Given the description of an element on the screen output the (x, y) to click on. 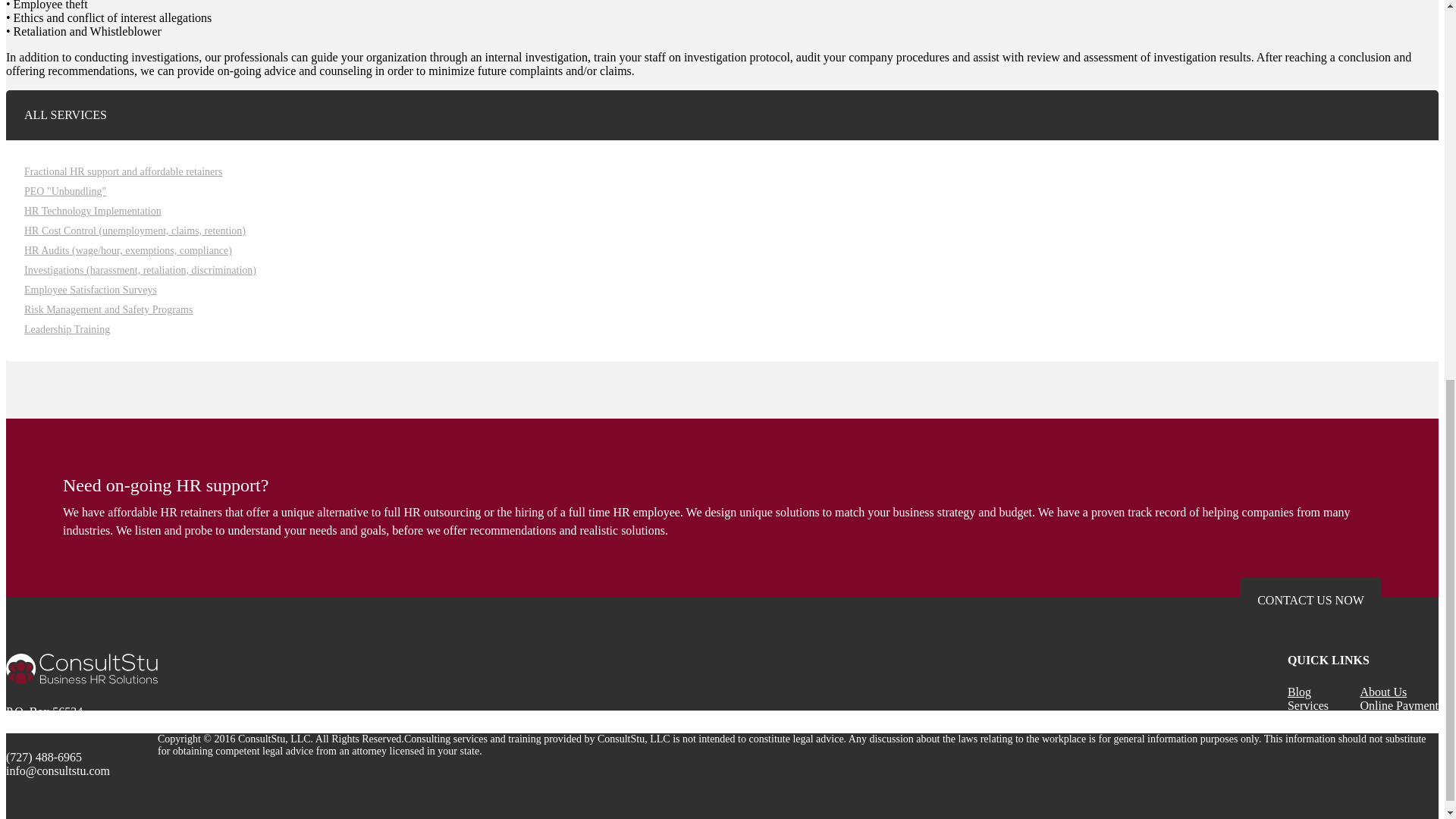
Services (1307, 705)
Jobs Board (1314, 718)
Contact (1378, 718)
About Us (1382, 691)
Blog (1299, 691)
